Given the description of an element on the screen output the (x, y) to click on. 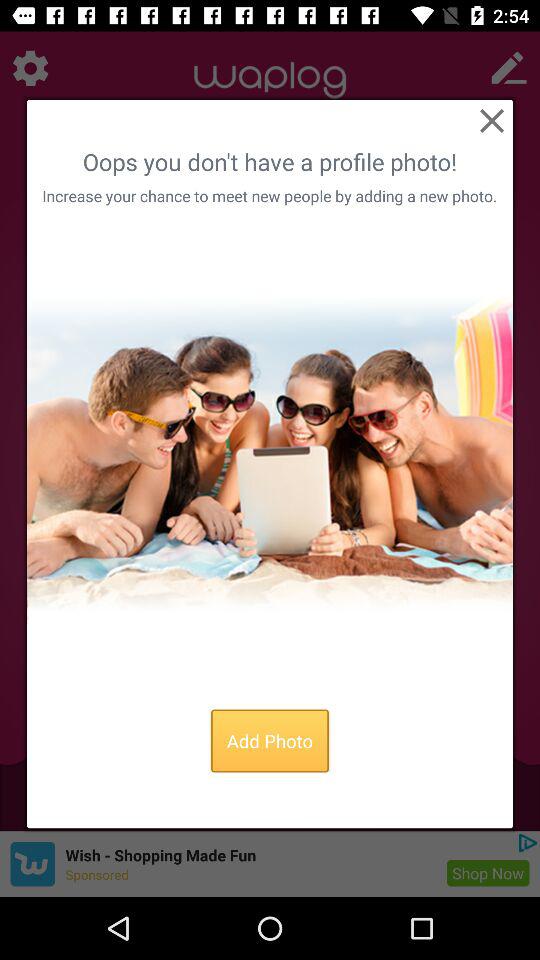
turn on item at the center (269, 453)
